Given the description of an element on the screen output the (x, y) to click on. 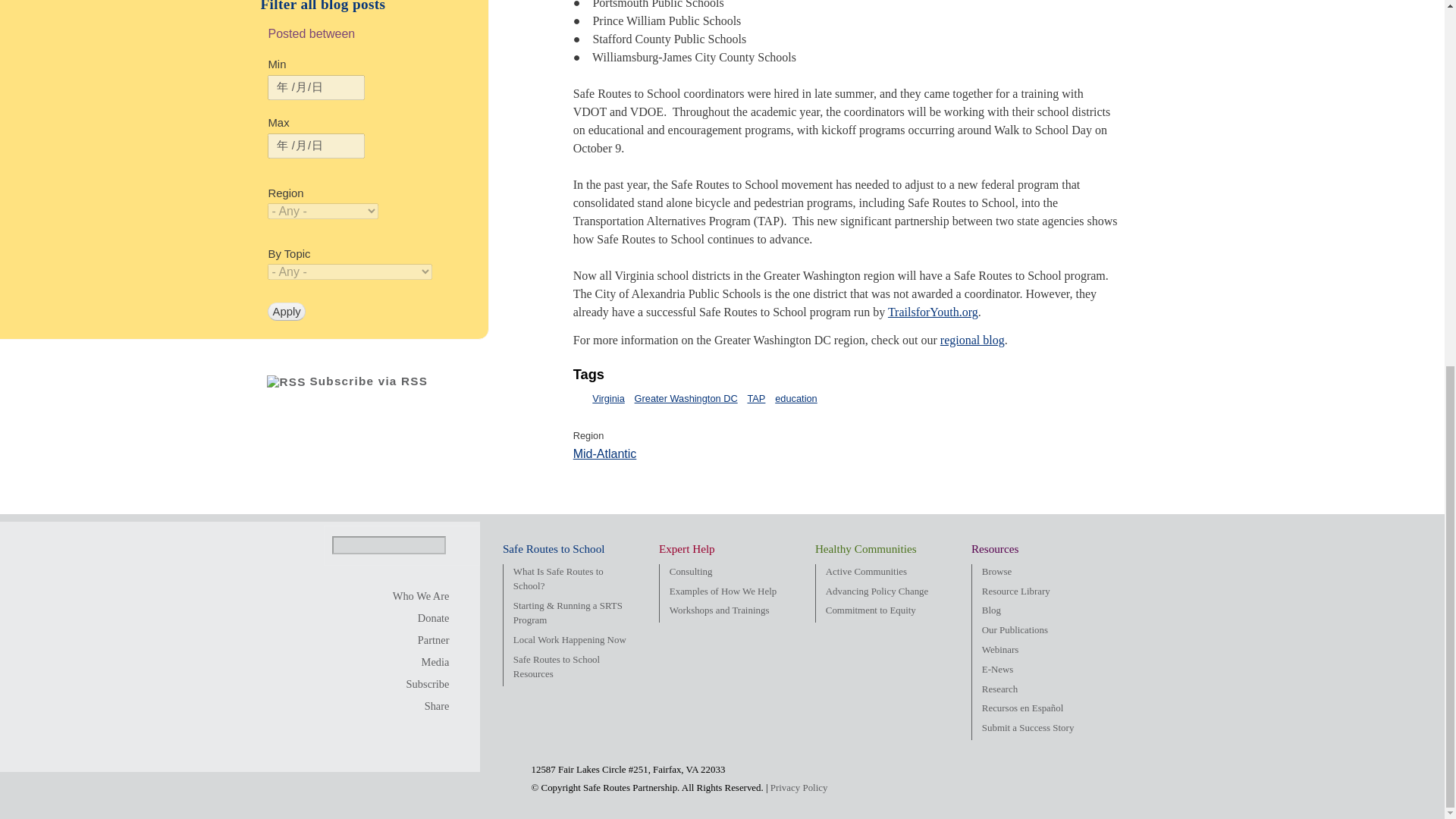
Join (421, 640)
Search (458, 547)
Search (458, 547)
RSS (285, 382)
Apply (285, 311)
Enter the terms you wish to search for. (388, 545)
Media (421, 662)
